Given the description of an element on the screen output the (x, y) to click on. 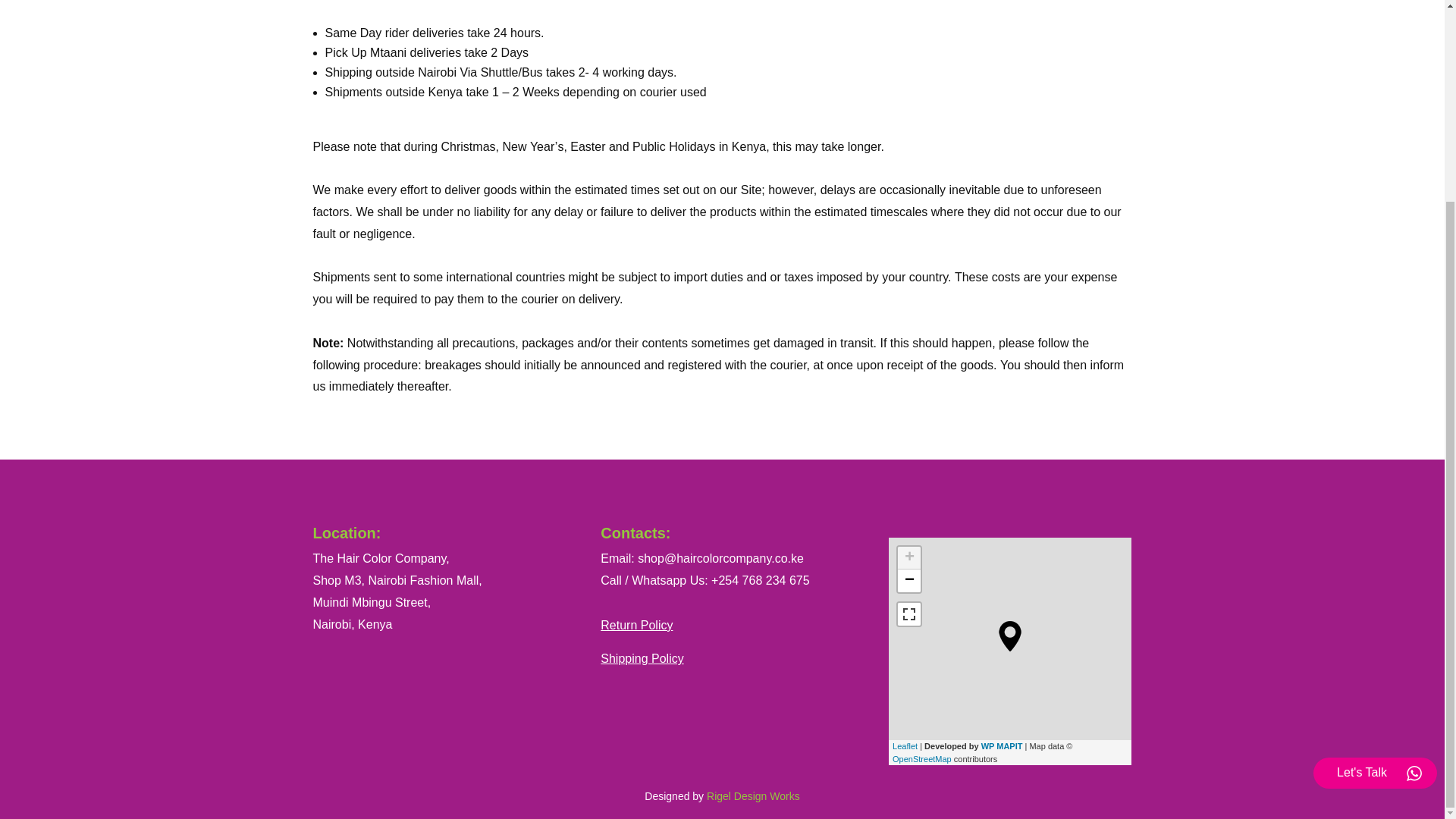
Zoom out (909, 580)
View Fullscreen (909, 613)
Zoom in (909, 558)
A JS library for interactive maps (904, 746)
